Given the description of an element on the screen output the (x, y) to click on. 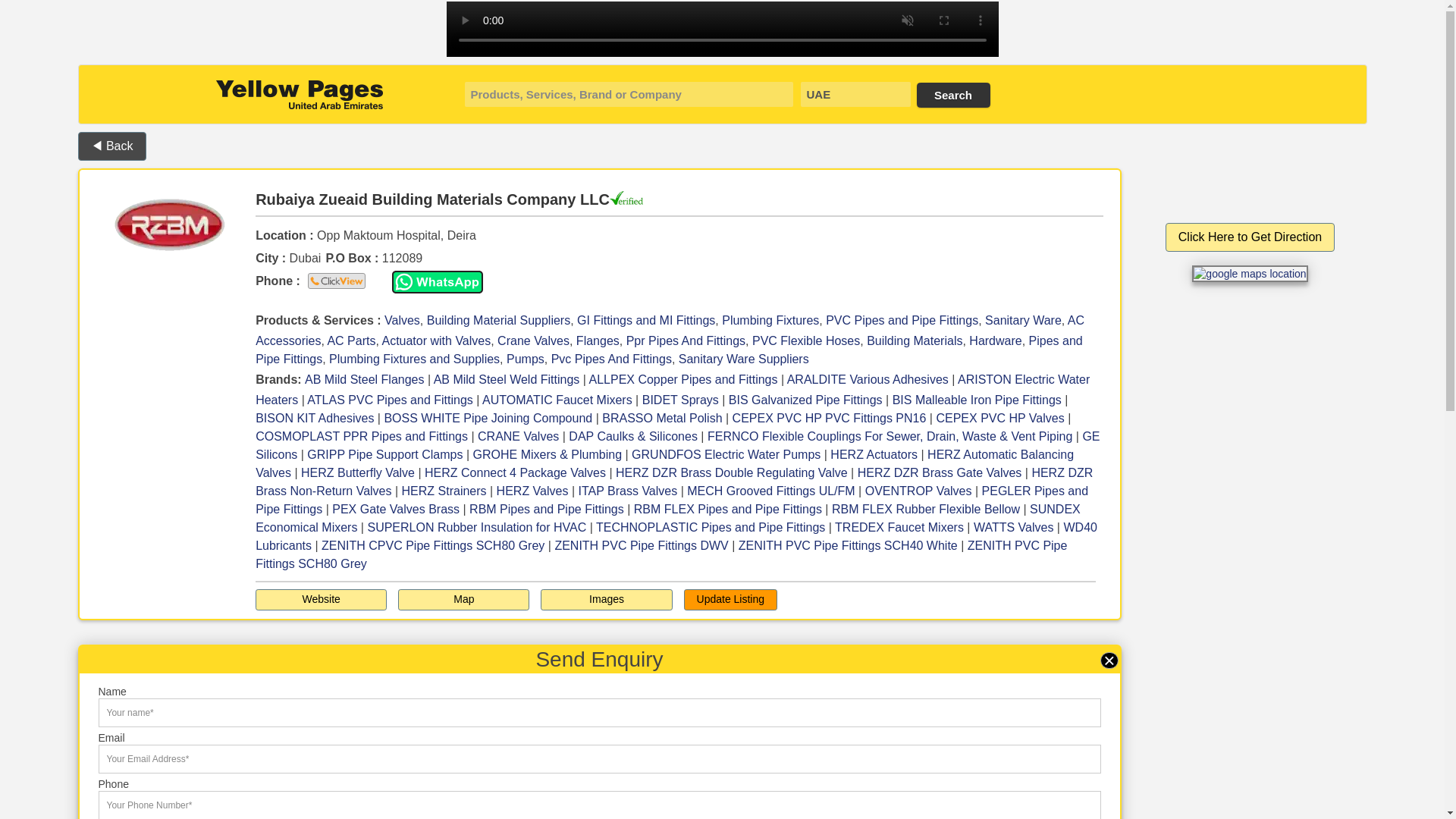
Ppr Pipes And Fittings (685, 340)
BIS Malleable Iron Pipe Fittings (976, 399)
Sanitary Ware (1023, 319)
Search (952, 94)
Flanges (598, 340)
GI Fittings and MI Fittings (645, 319)
Valves (402, 319)
UAE (855, 94)
Crane Valves (533, 340)
ATLAS PVC Pipes and Fittings (389, 399)
Search (952, 94)
Actuator with Valves (435, 340)
Building Materials (914, 340)
Plumbing Fixtures and Supplies (414, 358)
